Given the description of an element on the screen output the (x, y) to click on. 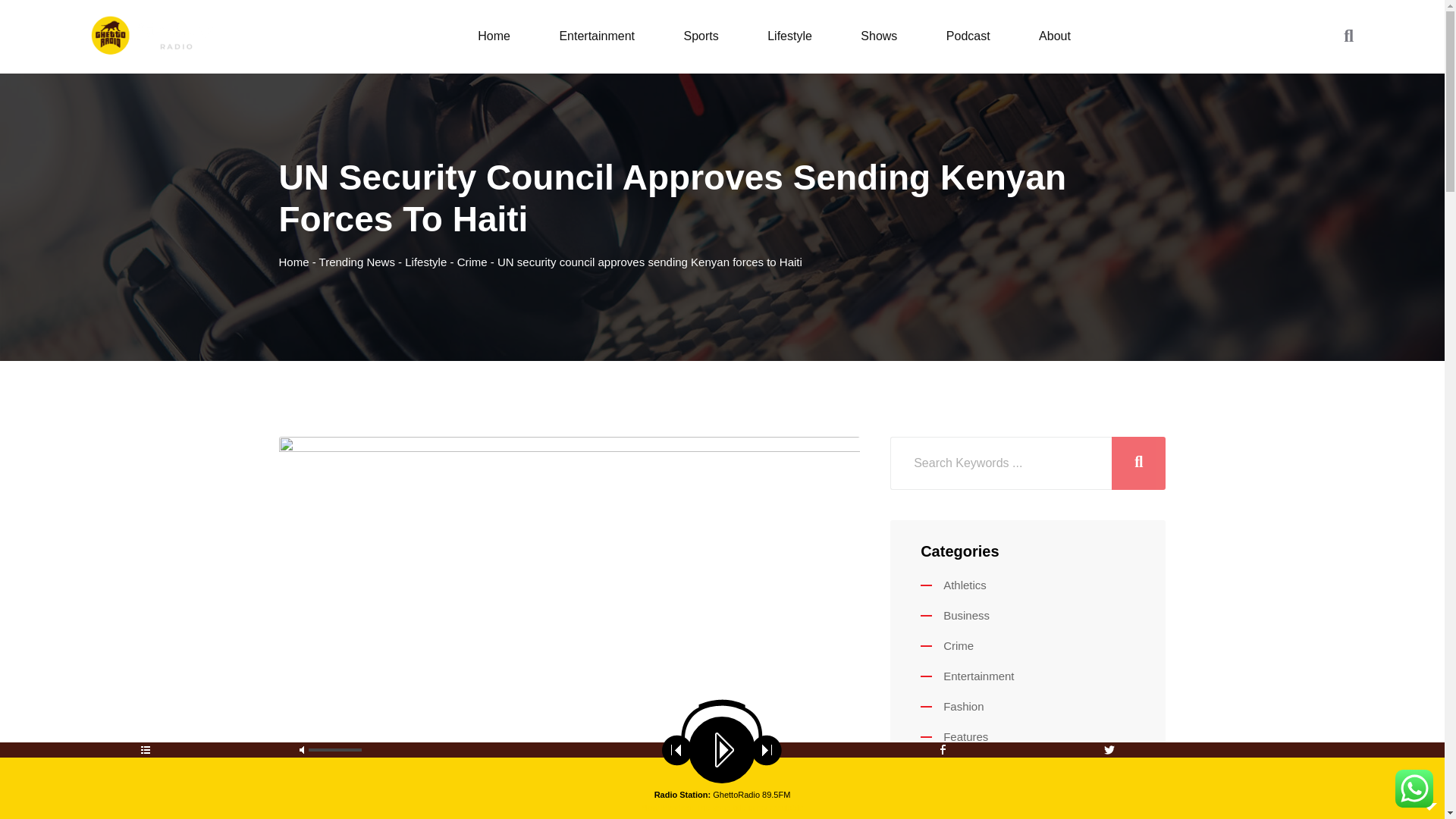
Entertainment (596, 36)
Lifestyle (789, 36)
Go to the Crime category archives. (472, 261)
Go to Ghetto Radio. (293, 261)
Go to Trending News. (356, 261)
Home (493, 36)
Go to the Lifestyle category archives. (425, 261)
Sports (701, 36)
